Given the description of an element on the screen output the (x, y) to click on. 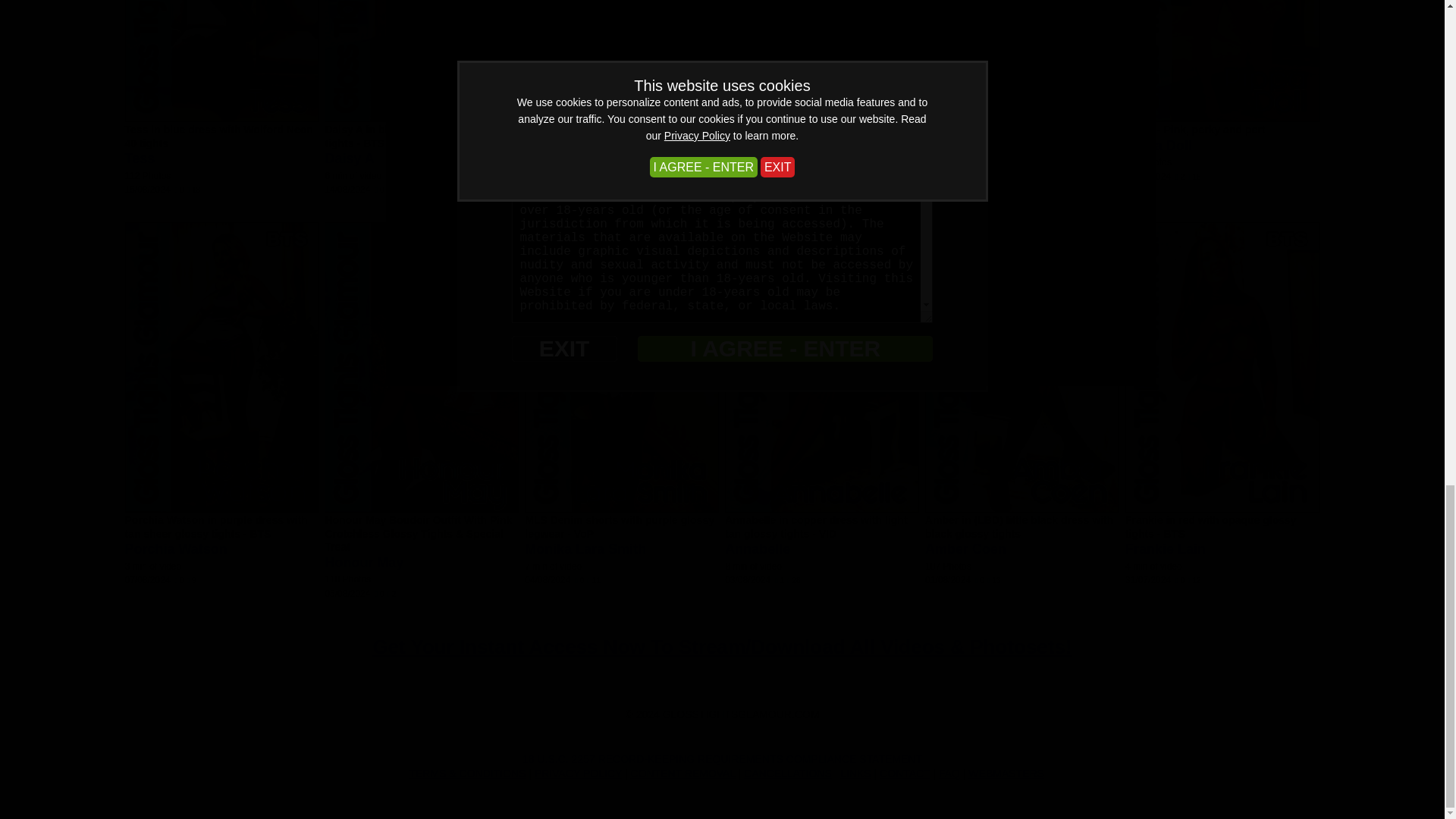
Daisy A (349, 158)
Tess (138, 158)
Daisy A in black with Wolford Neon 40 tights - BTS (420, 136)
Tess in blue dress with Wolford Neon 40 tights (218, 136)
Kelsey (546, 171)
